Given the description of an element on the screen output the (x, y) to click on. 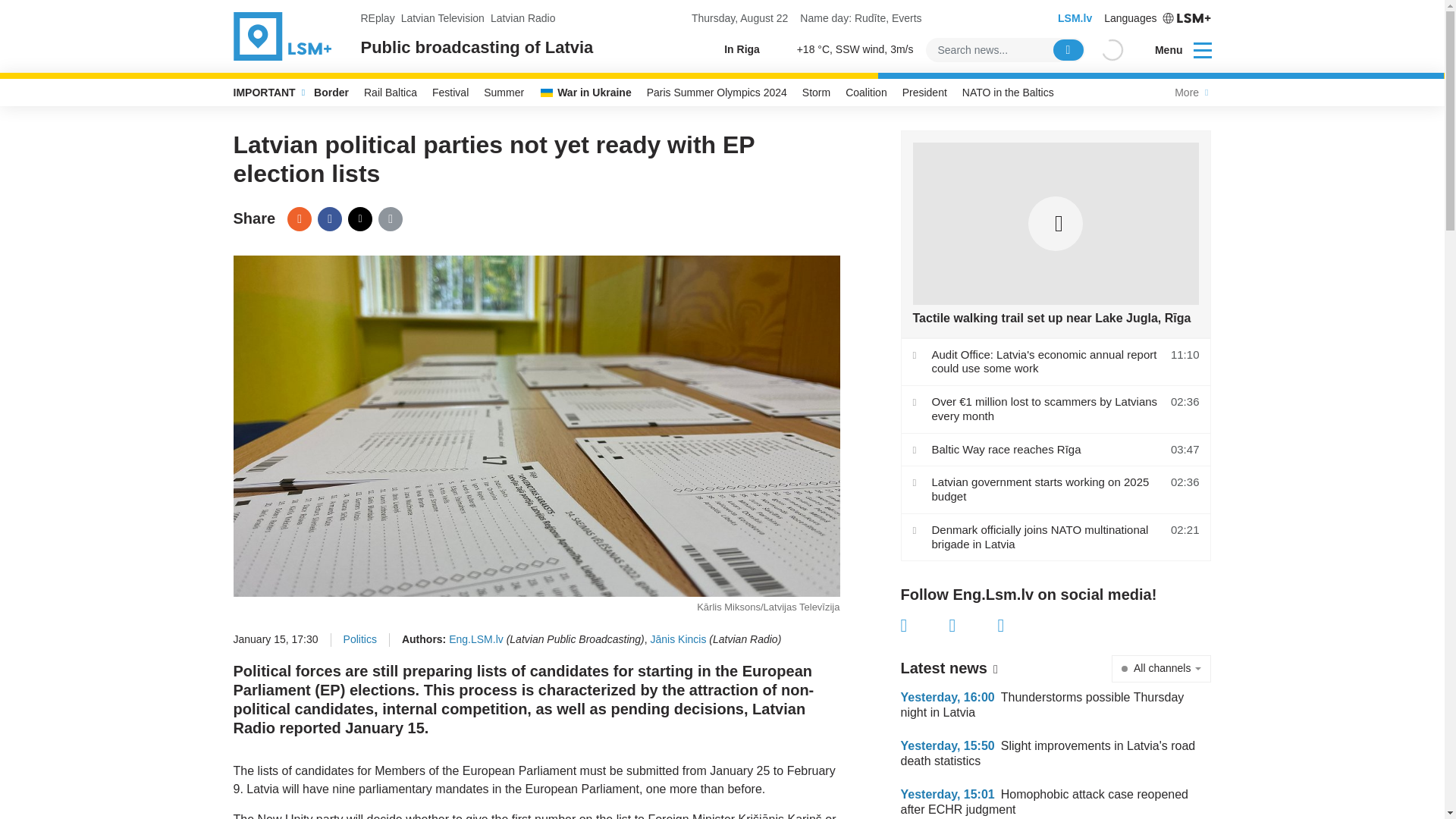
Festival (450, 92)
War in Ukraine (585, 92)
Storm (816, 92)
Border (330, 92)
Linkedin (1021, 625)
LSM.lv (1075, 18)
Languages (1157, 18)
REplay (377, 18)
Facebook (329, 218)
X (973, 625)
